Given the description of an element on the screen output the (x, y) to click on. 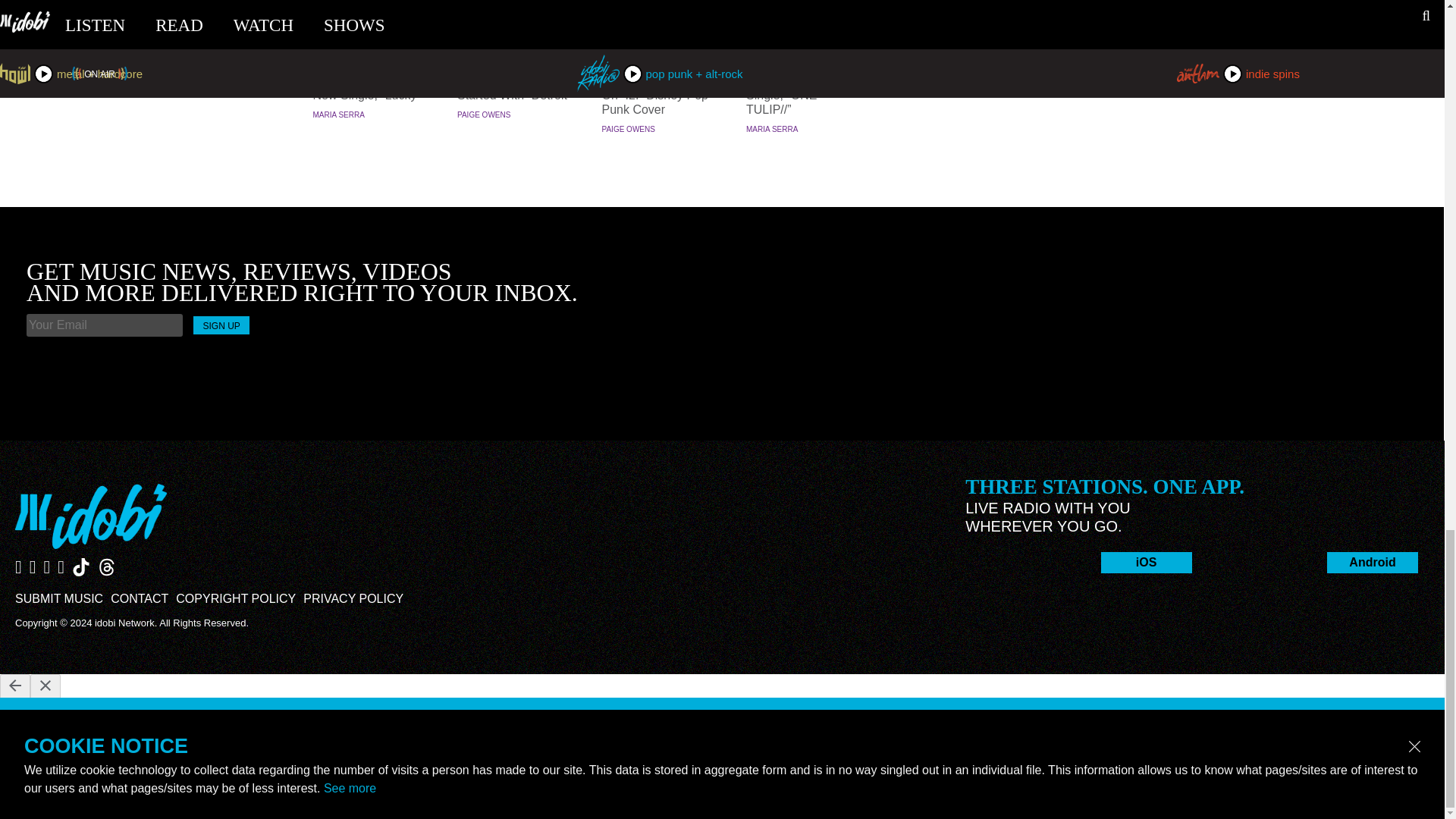
SIGN UP (220, 325)
Paige Owens (628, 129)
MARIA SERRA (771, 129)
NEWS (514, 50)
Maria Serra (771, 129)
NEWS (659, 50)
Maria Serra (338, 114)
PAIGE OWENS (628, 129)
NEWS (369, 50)
MARIA SERRA (338, 114)
NEWS (803, 50)
PAIGE OWENS (484, 114)
Paige Owens (484, 114)
